Given the description of an element on the screen output the (x, y) to click on. 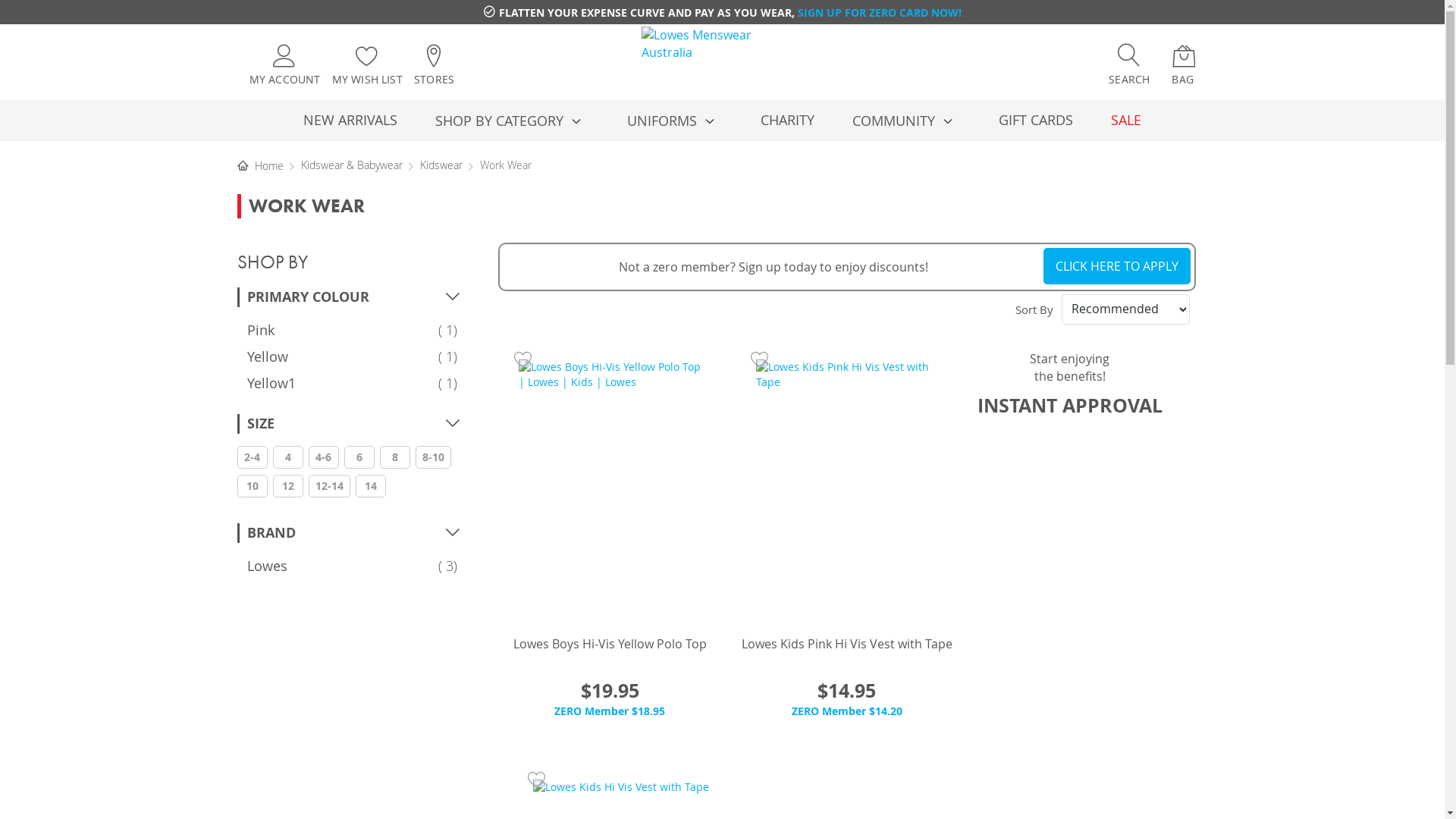
SIGN UP FOR ZERO CARD NOW! Element type: text (879, 12)
COMMUNITY Element type: text (906, 120)
Start enjoying
the benefits! Element type: text (1069, 367)
Yellow
1
item Element type: text (267, 356)
Lowes Boys Hi-Vis Yellow Polo Top Element type: text (609, 643)
Home Element type: text (253, 165)
CHARITY Element type: text (787, 119)
Lowes
3
item Element type: text (266, 565)
Add to Wish List Element type: text (522, 358)
Add to Wish List Element type: text (536, 778)
BAG Element type: text (1183, 66)
SHOP BY CATEGORY Element type: text (511, 120)
Kidswear & Babywear Element type: text (352, 164)
Add to Wish List Element type: text (759, 358)
SALE Element type: text (1125, 119)
Lowes Menswear Australia Element type: hover (712, 63)
MY ACCOUNT Element type: text (284, 63)
NEW ARRIVALS Element type: text (349, 119)
CLICK HERE TO APPLY Element type: text (1116, 265)
STORES Element type: text (434, 63)
MY WISH LIST Element type: text (367, 63)
Pink
1
item Element type: text (260, 329)
Lowes Kids Pink Hi Vis Vest with Tape Element type: text (846, 643)
Yellow1
1
item Element type: text (271, 382)
UNIFORMS Element type: text (674, 120)
GIFT CARDS Element type: text (1035, 119)
Kidswear Element type: text (442, 164)
